Given the description of an element on the screen output the (x, y) to click on. 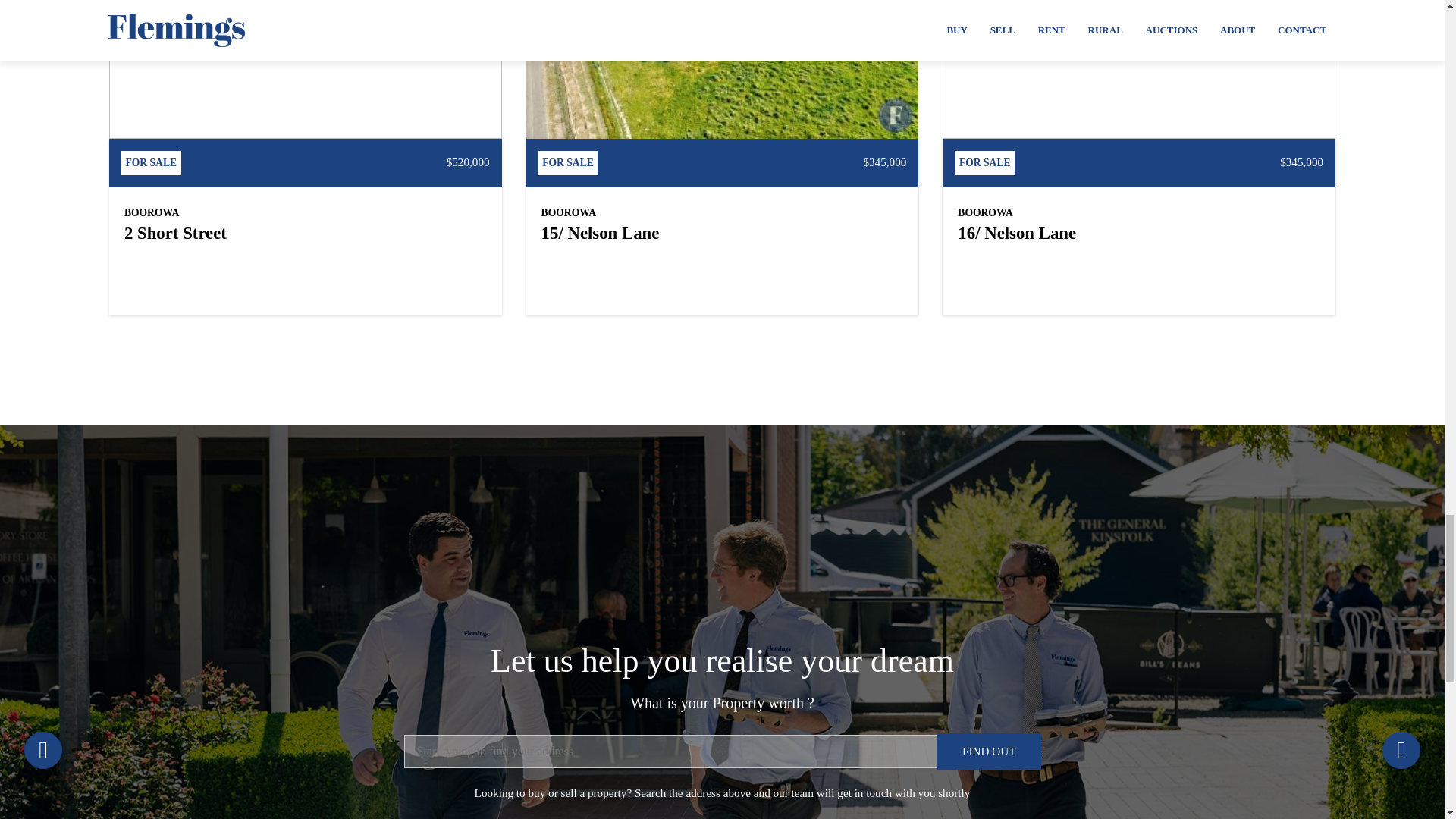
Large, Attractive Building Block (305, 69)
Spacious Residential Block- Rural Surrounds (1138, 69)
Spacious Residential Block- Rural Surrounds (721, 69)
FIND OUT (989, 751)
